Given the description of an element on the screen output the (x, y) to click on. 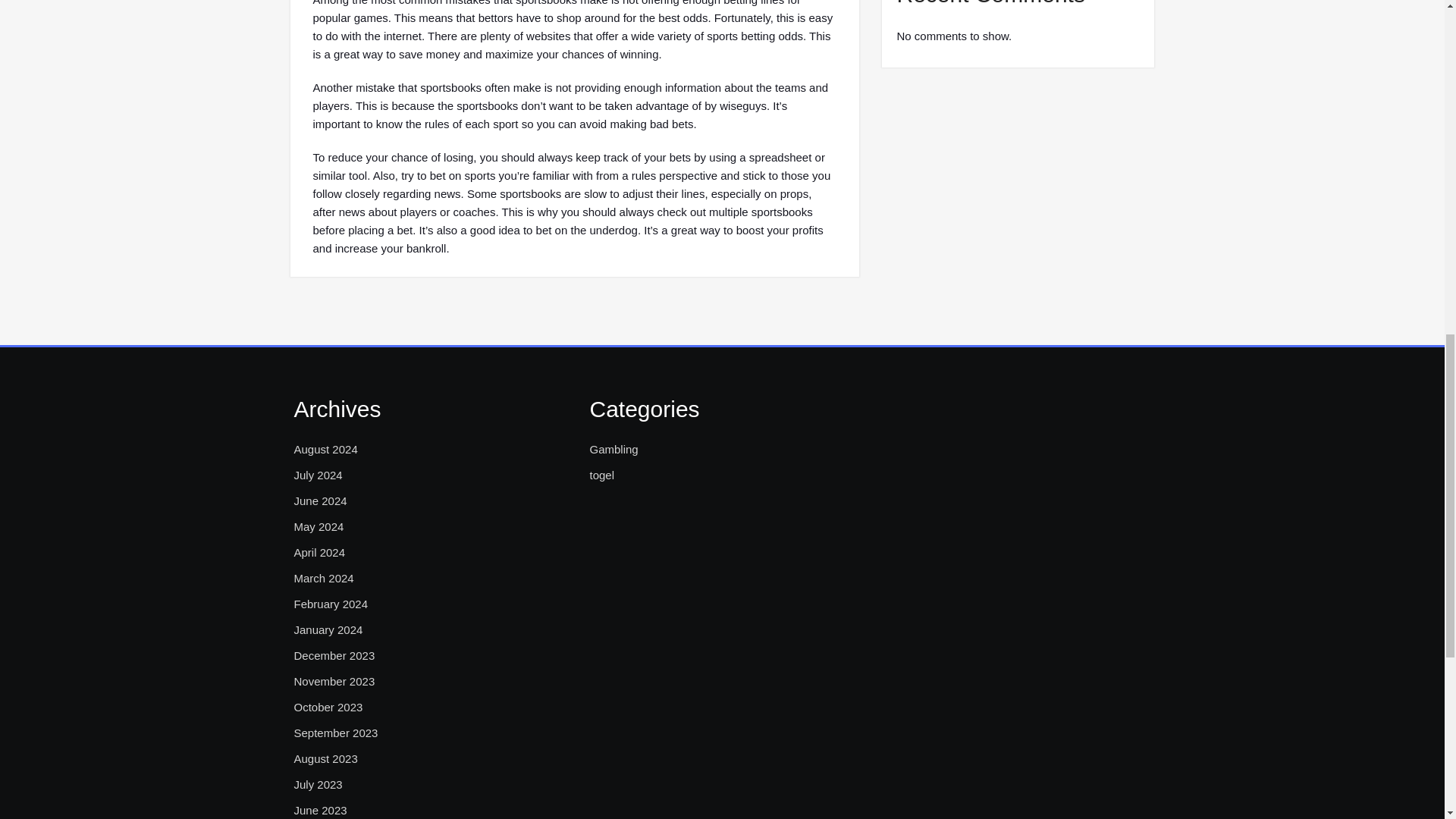
August 2024 (326, 449)
October 2023 (328, 707)
January 2024 (328, 629)
June 2024 (320, 501)
November 2023 (334, 681)
March 2024 (323, 578)
July 2024 (318, 475)
September 2023 (336, 732)
May 2024 (318, 526)
December 2023 (334, 656)
February 2024 (331, 604)
July 2023 (318, 784)
June 2023 (320, 810)
August 2023 (326, 759)
April 2024 (320, 552)
